Given the description of an element on the screen output the (x, y) to click on. 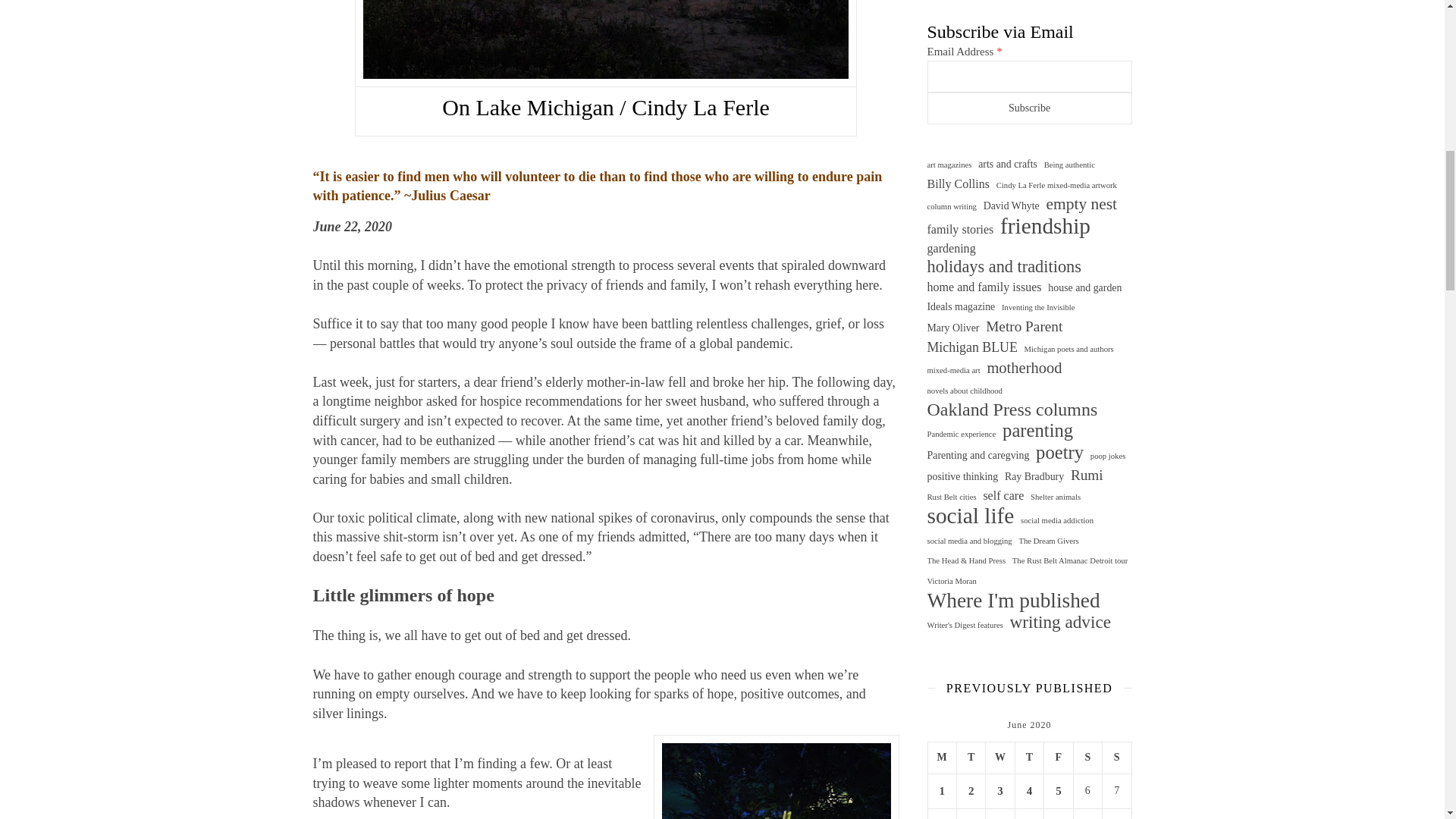
Saturday (1087, 757)
Monday (941, 757)
Wednesday (999, 757)
Friday (1058, 757)
Subscribe (1028, 108)
Thursday (1028, 757)
Sunday (1116, 757)
Tuesday (970, 757)
